Given the description of an element on the screen output the (x, y) to click on. 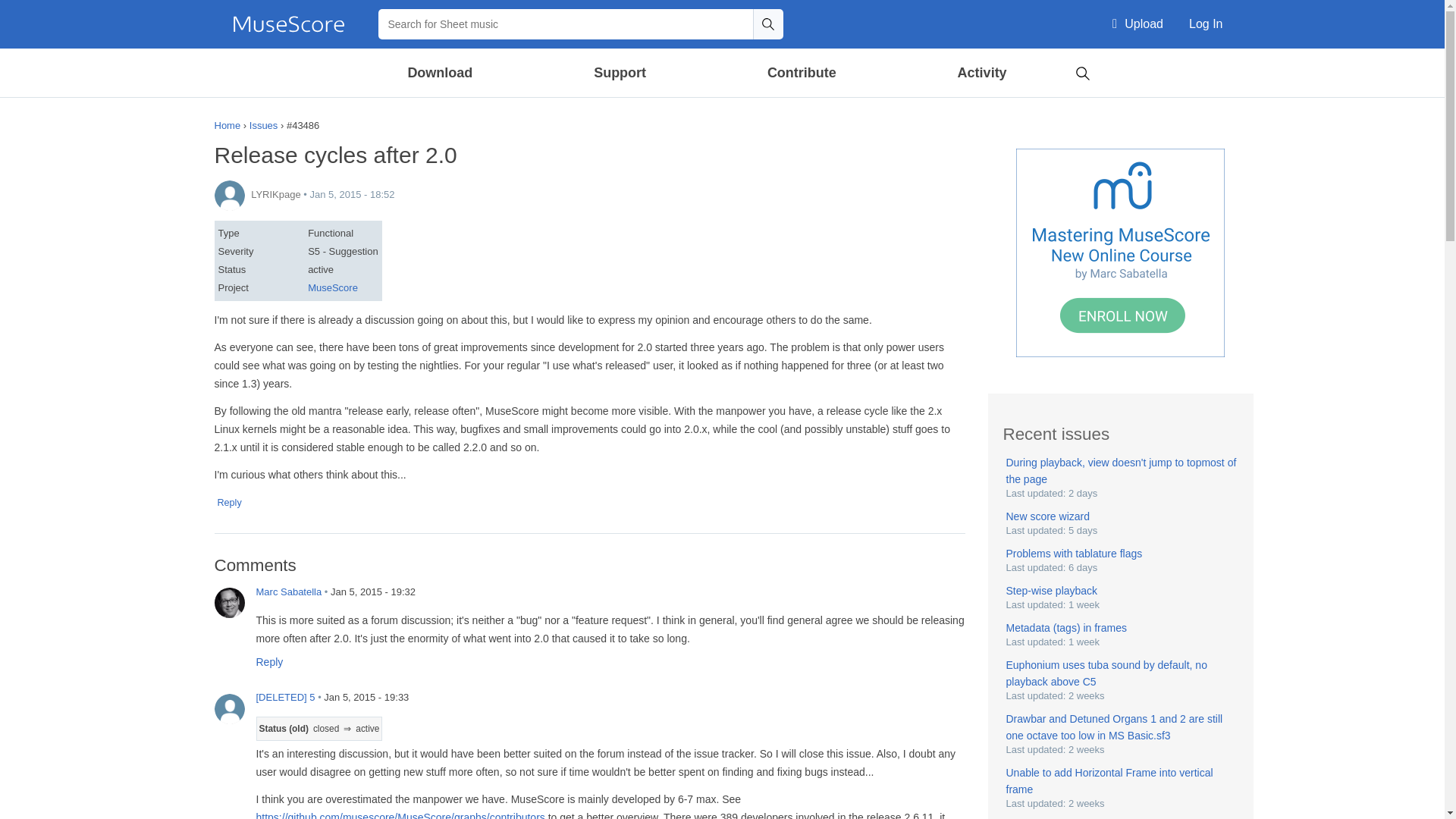
LYRIKpage (229, 195)
Activity (981, 72)
MuseScore (287, 23)
Download (440, 72)
Contribute (801, 72)
Search (1082, 71)
Log In (1205, 24)
Upload (1137, 24)
Search (767, 24)
Marc Sabatella (229, 603)
Search (767, 24)
Support (619, 72)
Home (287, 23)
